Given the description of an element on the screen output the (x, y) to click on. 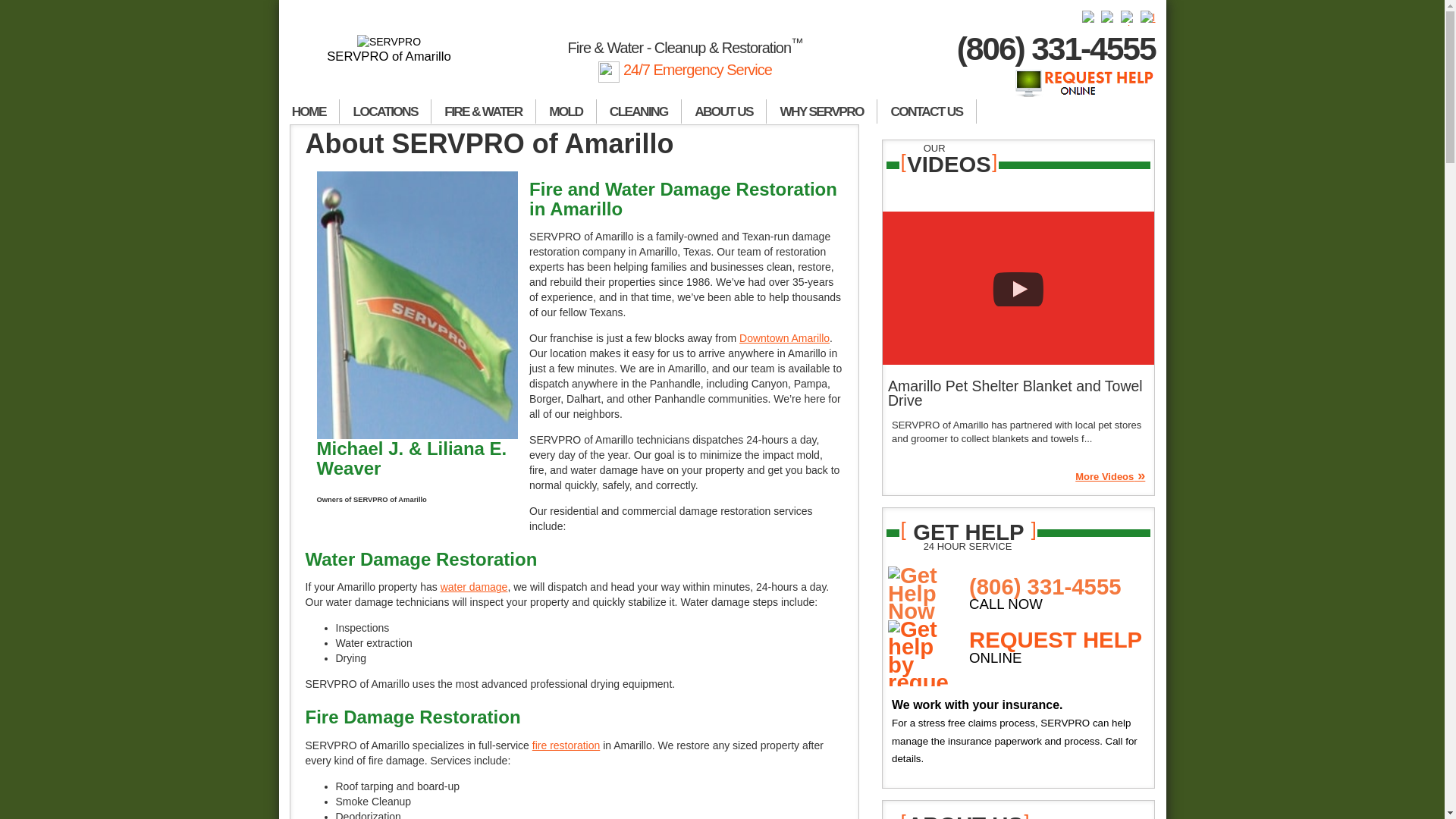
LOCATIONS (384, 111)
HOME (309, 111)
Fire Damage Restoration (565, 745)
MOLD (565, 111)
ABOUT US (724, 111)
CLEANING (638, 111)
Downtown Amarillo (784, 337)
SERVPRO of Amarillo (389, 49)
Water Damage Restoration (474, 586)
